Given the description of an element on the screen output the (x, y) to click on. 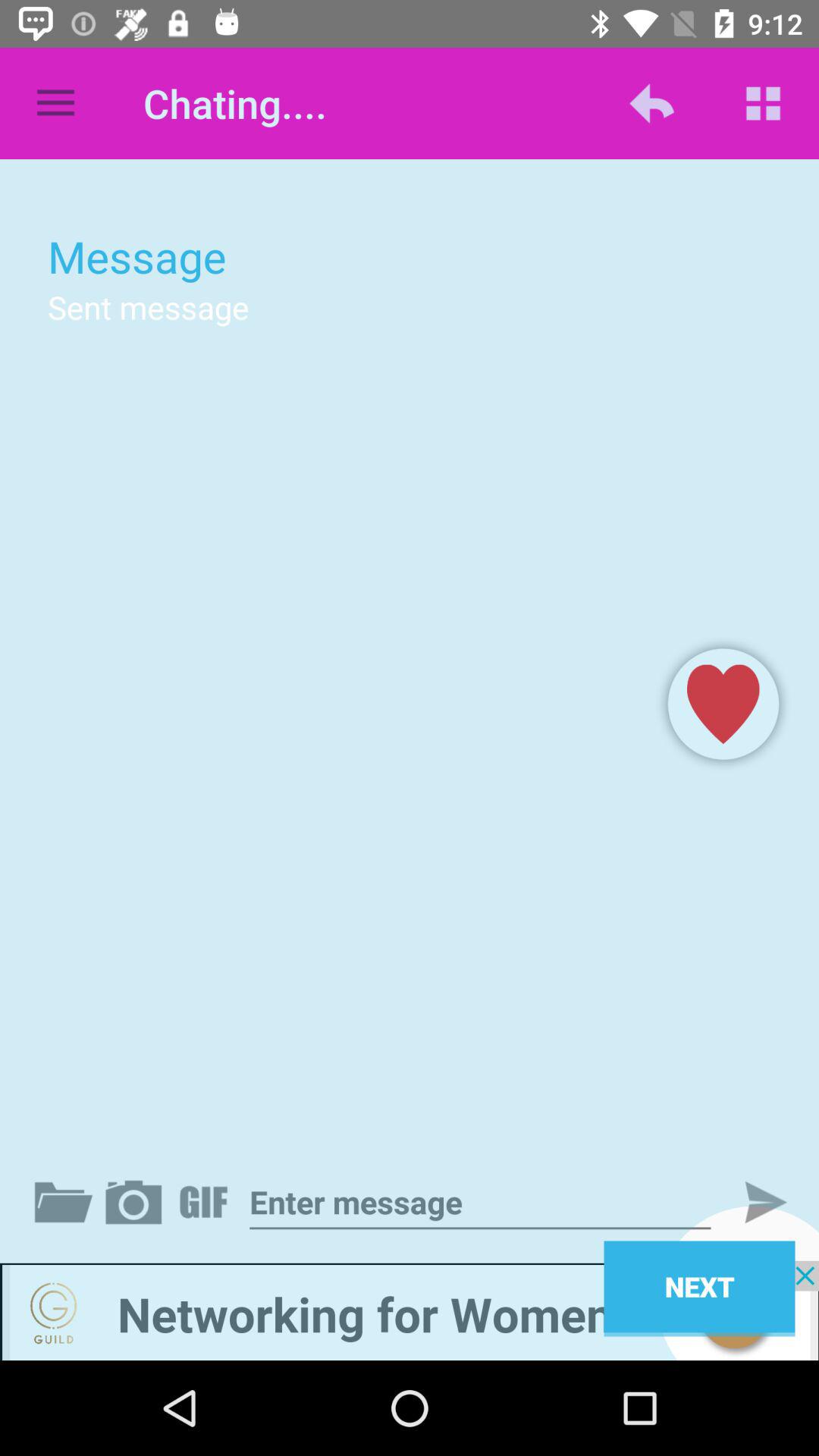
type message (479, 1202)
